Given the description of an element on the screen output the (x, y) to click on. 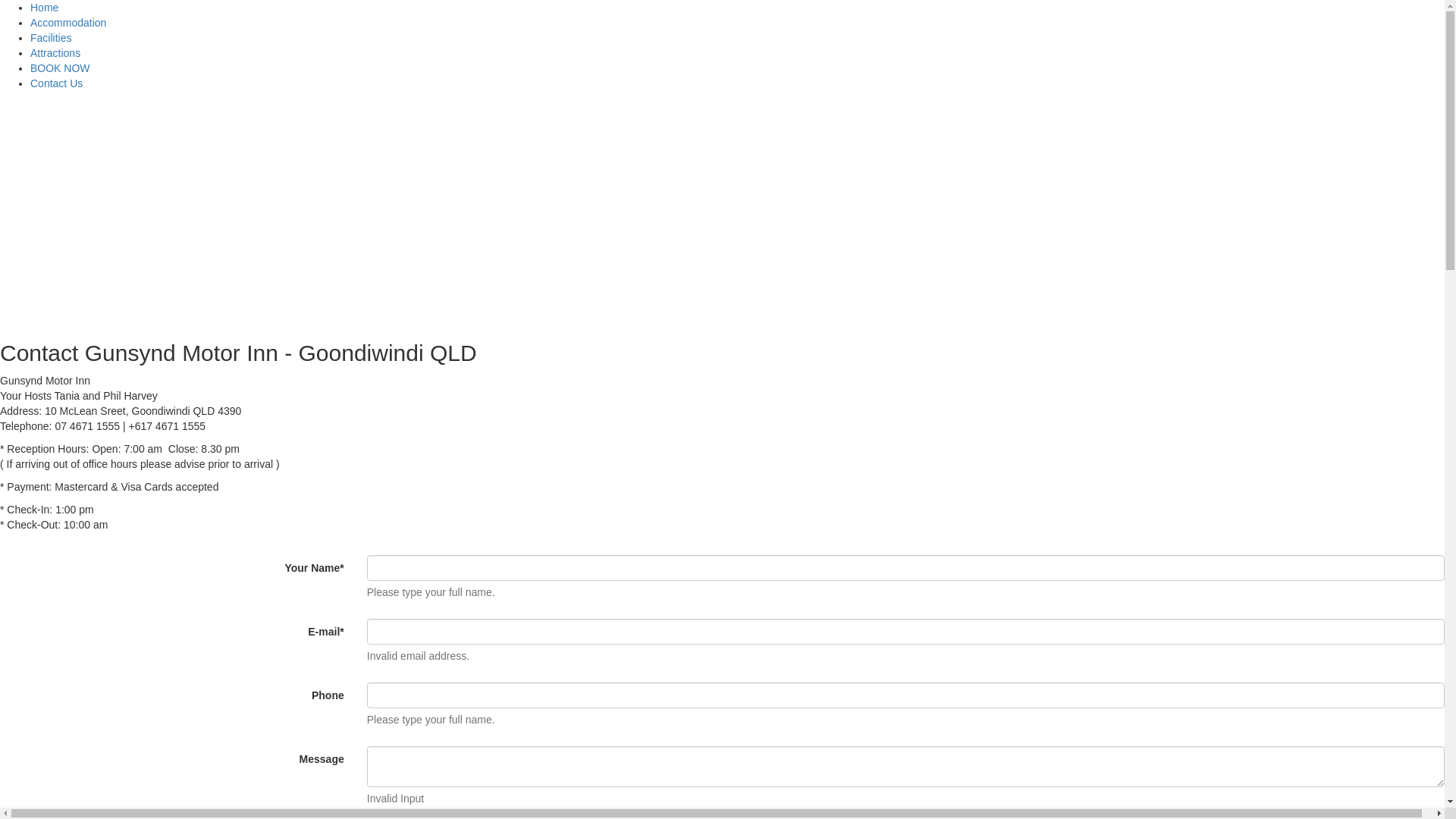
Accommodation Element type: text (68, 22)
Contact Us Element type: text (56, 83)
BOOK NOW Element type: text (60, 68)
Attractions Element type: text (55, 53)
Home Element type: text (44, 7)
Facilities Element type: text (50, 37)
